Given the description of an element on the screen output the (x, y) to click on. 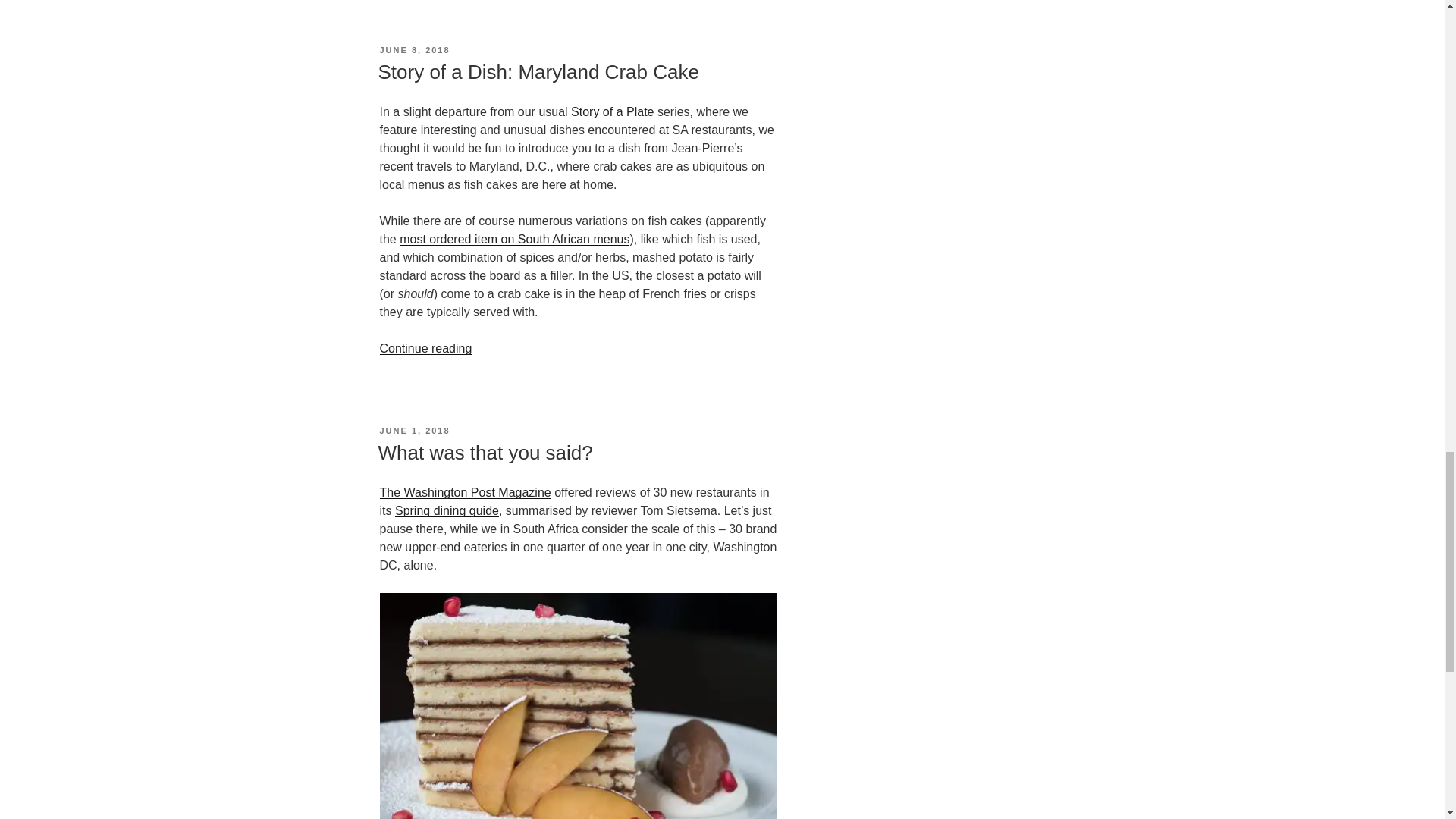
JUNE 1, 2018 (413, 429)
The Washington Post Magazine (464, 492)
Story of a Dish: Maryland Crab Cake (537, 71)
Spring dining guide (446, 510)
JUNE 8, 2018 (413, 49)
most ordered item on South African menus (513, 238)
What was that you said? (484, 452)
Story of a Plate (611, 111)
